Given the description of an element on the screen output the (x, y) to click on. 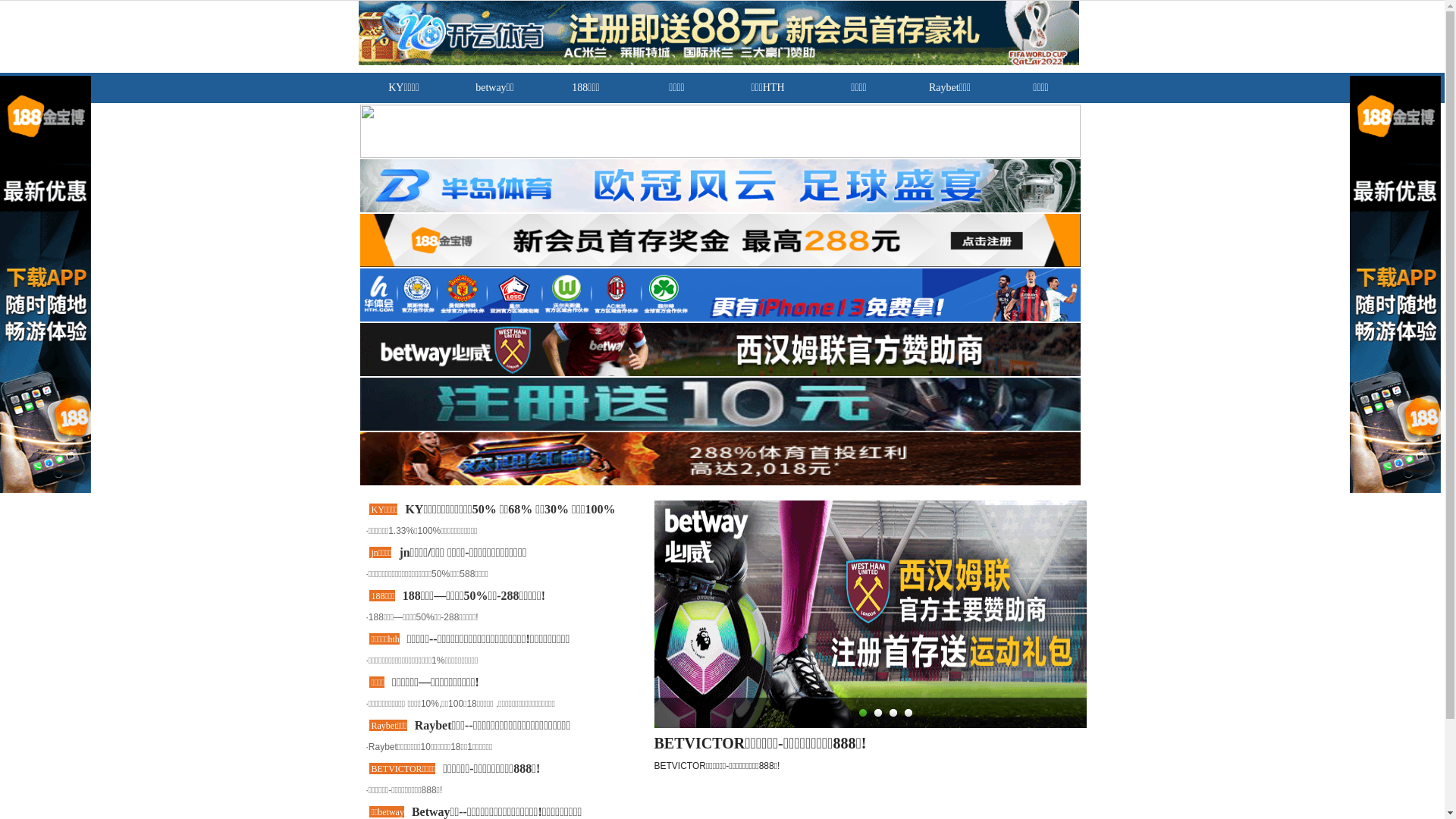
LinkedIn Element type: text (993, 122)
RSS Element type: text (1031, 122)
Thinkers360 Element type: text (961, 624)
Discover.bot Element type: text (961, 492)
